Given the description of an element on the screen output the (x, y) to click on. 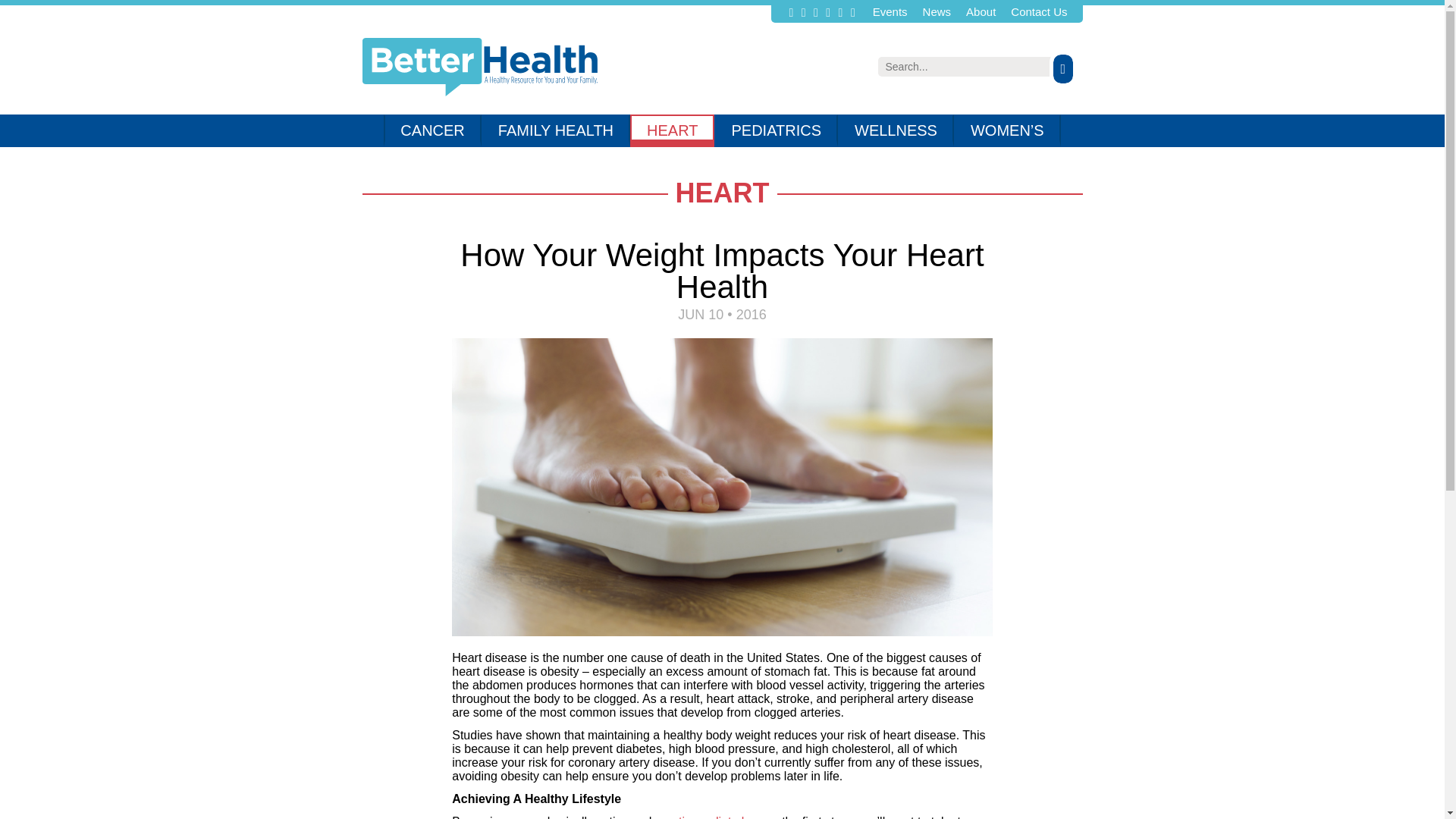
creating a diet plan (706, 816)
WELLNESS (895, 130)
CANCER (432, 130)
About (980, 11)
News (937, 11)
FAMILY HEALTH (555, 130)
Contact Us (1038, 11)
PEDIATRICS (776, 130)
Events (889, 11)
HEART (672, 130)
